Given the description of an element on the screen output the (x, y) to click on. 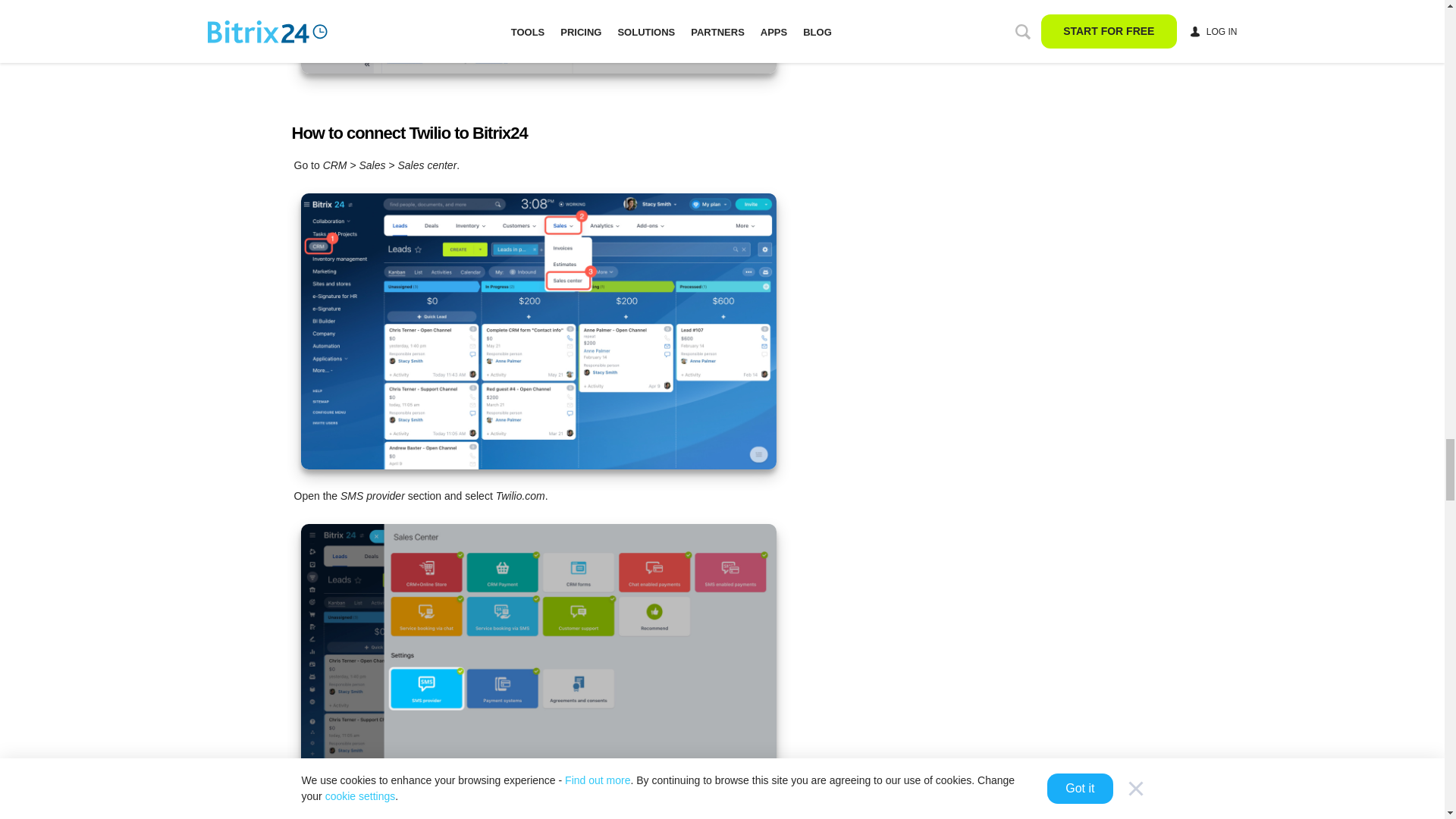
Sales center (537, 331)
Account Info (537, 36)
SMS Provider (537, 662)
